Given the description of an element on the screen output the (x, y) to click on. 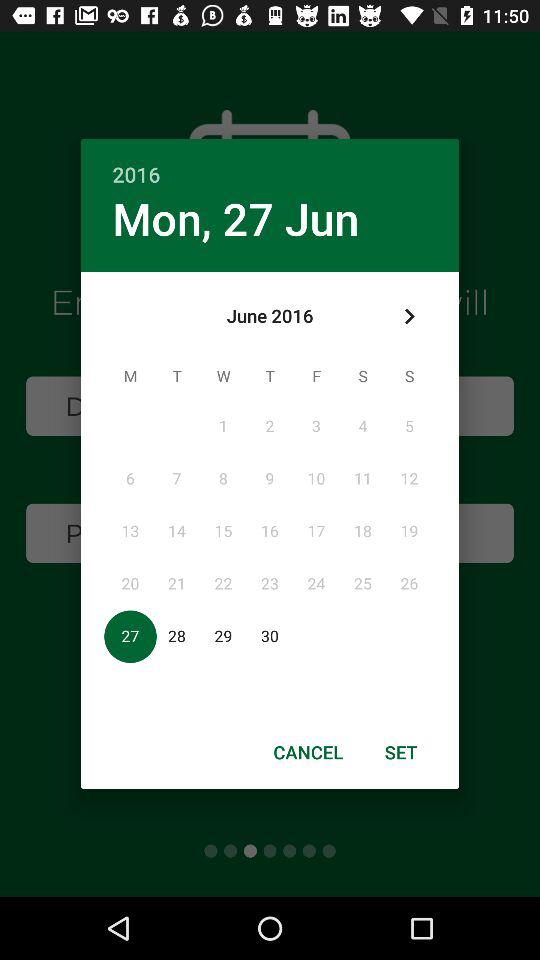
open item at the bottom (308, 751)
